Given the description of an element on the screen output the (x, y) to click on. 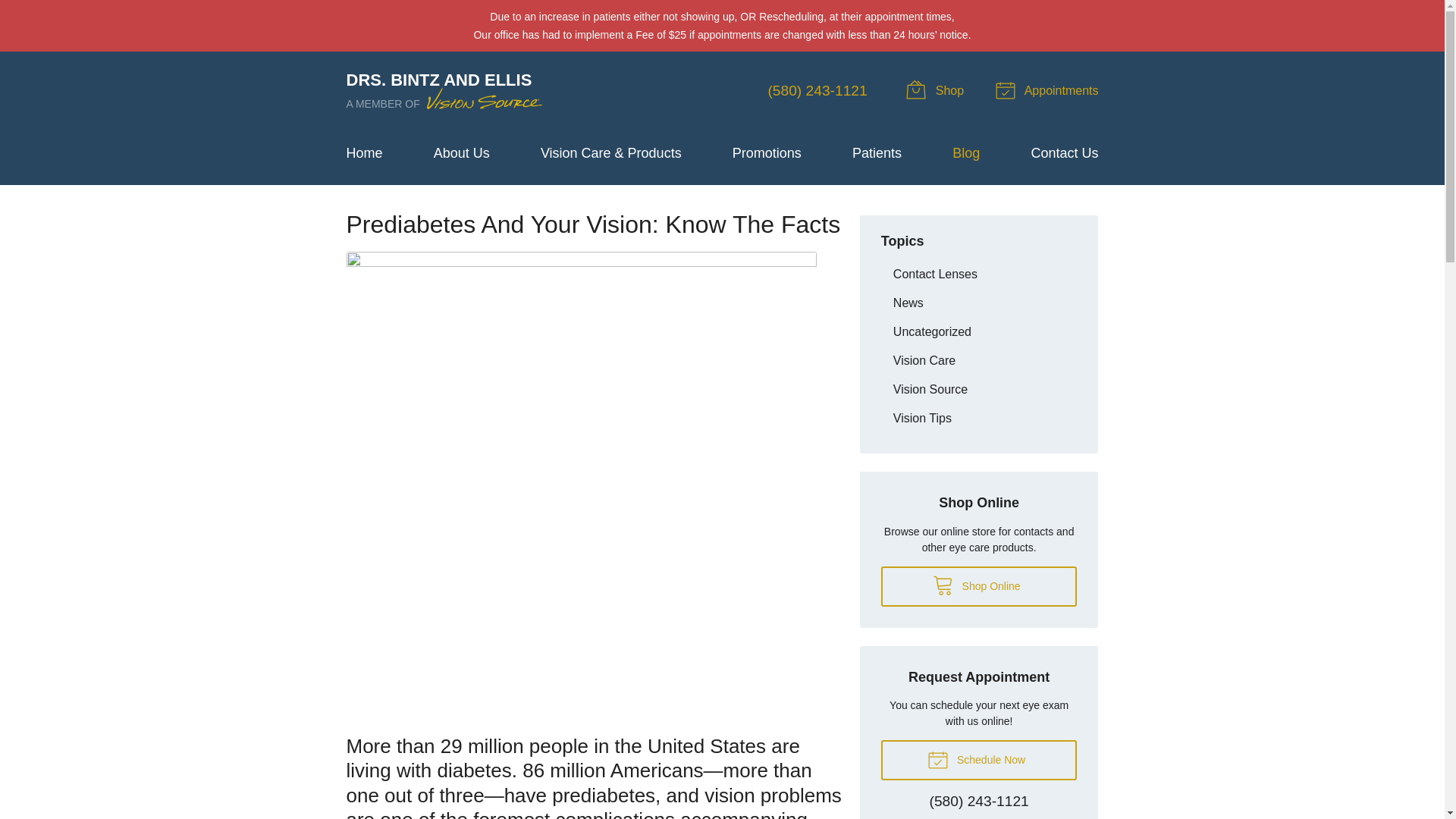
Shop (937, 90)
Call practice (816, 90)
Call practice (979, 802)
Drs. Bintz and Ellis (445, 91)
Blog (445, 91)
Home (965, 153)
Request Appointment (363, 153)
Close Navigation (1048, 90)
Shop Online (461, 153)
Shop Online (937, 90)
Appointments (978, 586)
Promotions (1048, 90)
Patients (767, 153)
